Given the description of an element on the screen output the (x, y) to click on. 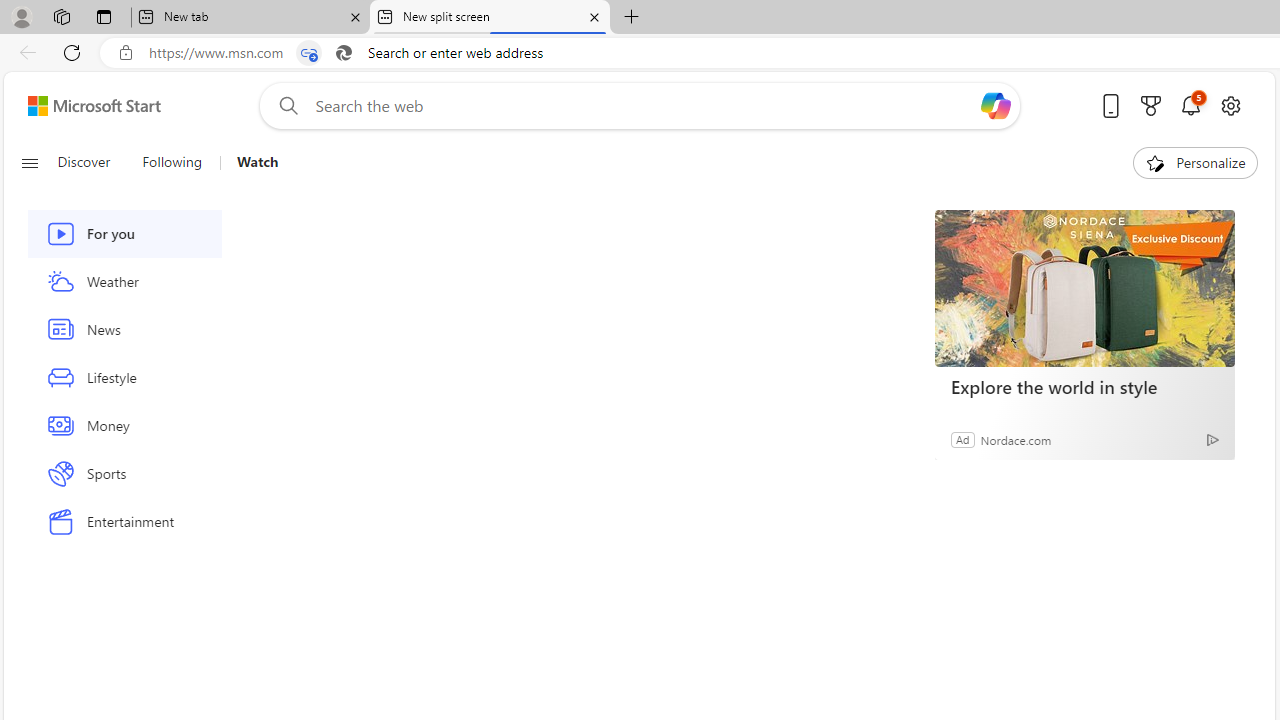
Explore the world in style (1084, 386)
Web search (283, 105)
Open navigation menu (29, 162)
Skip to footer (82, 105)
New split screen (490, 17)
